Given the description of an element on the screen output the (x, y) to click on. 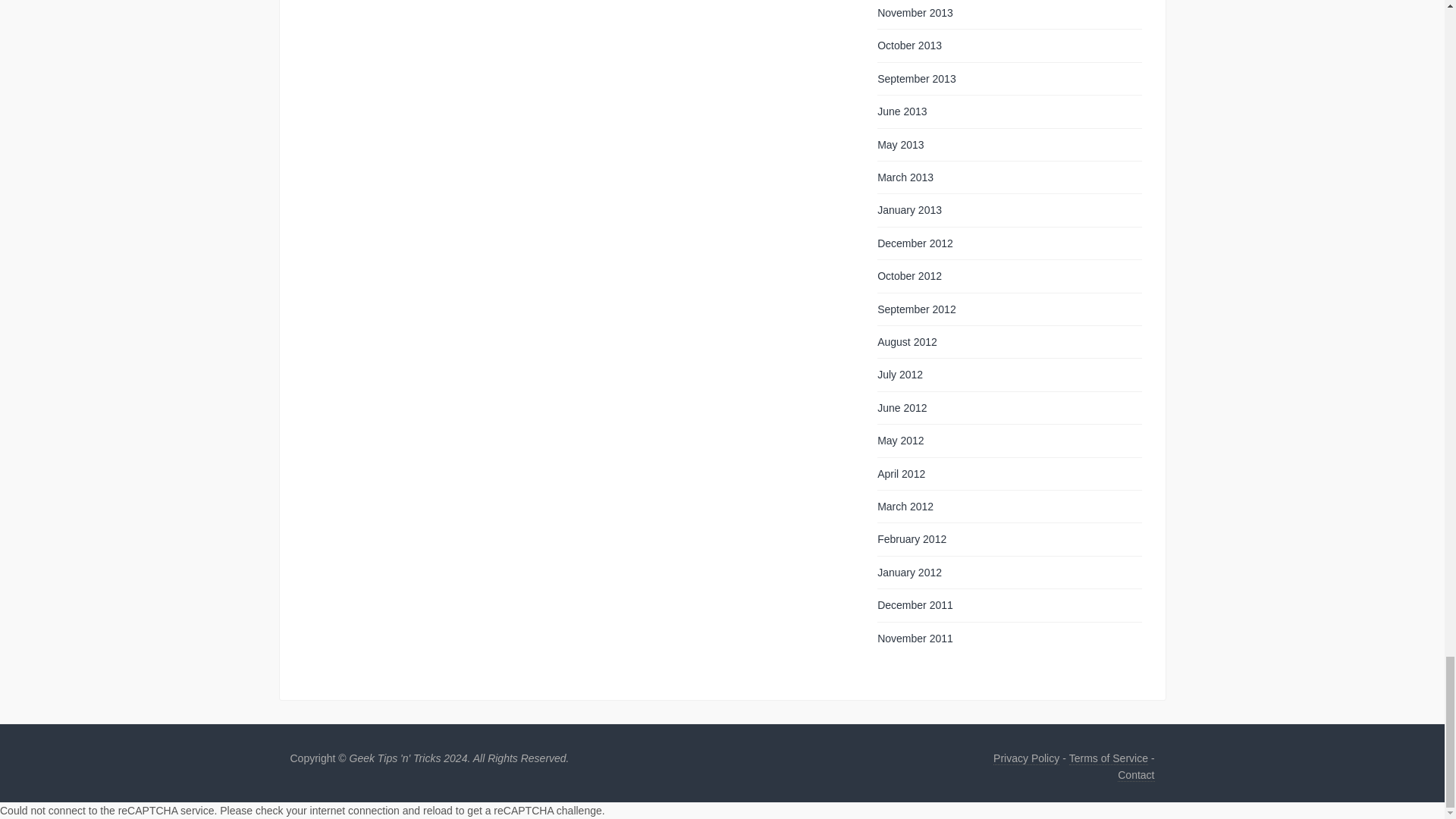
Privacy Policy (1025, 758)
Terms of Service (1108, 758)
Contact Me (1136, 775)
Geek Tips 'n' Tricks (459, 758)
